Given the description of an element on the screen output the (x, y) to click on. 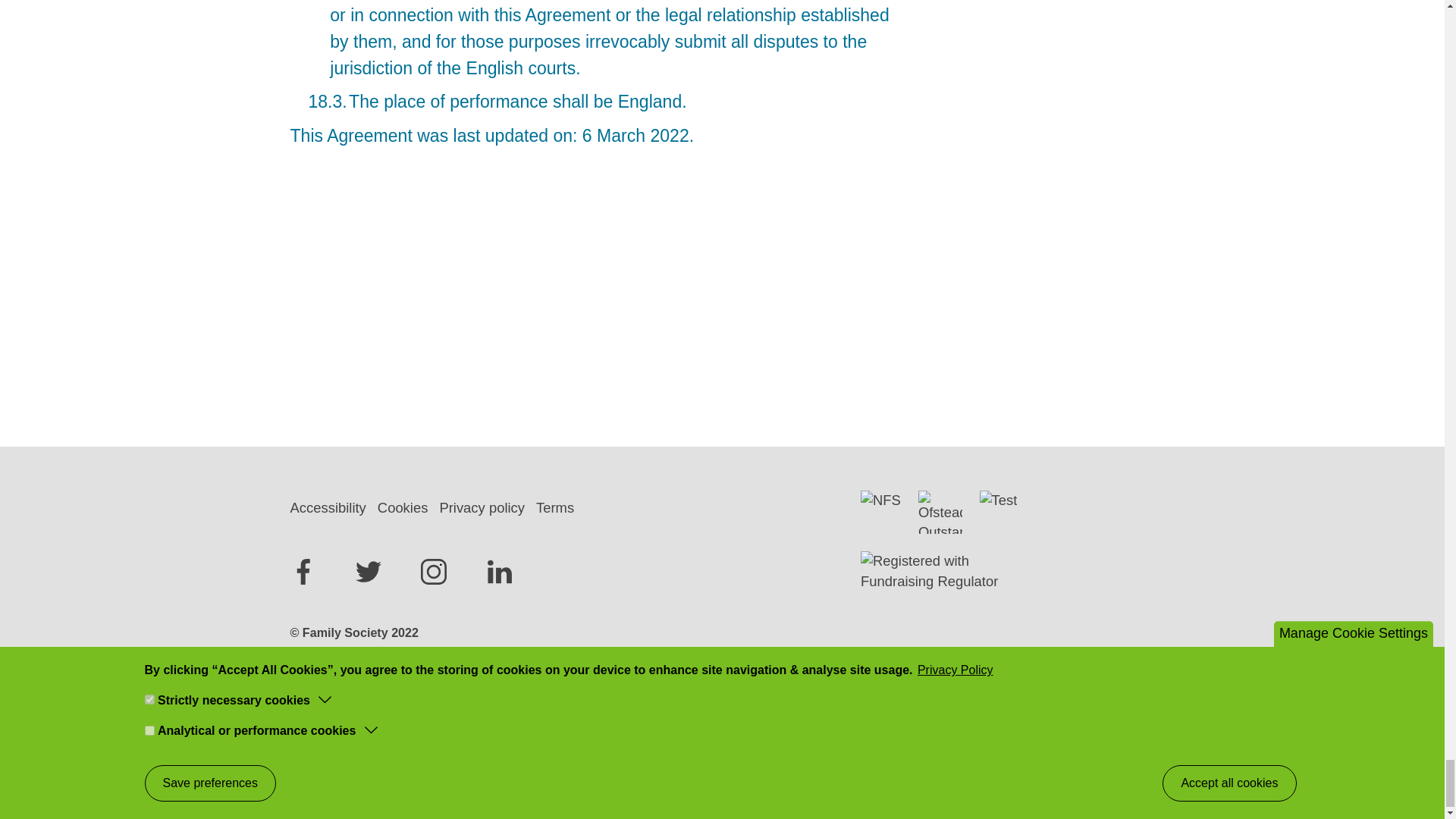
Website Terms (620, 744)
Cookies (408, 507)
Facebook (302, 571)
Terms and Conditions (620, 744)
Linked in (499, 571)
Twitter (368, 571)
Privacy policy (487, 507)
Terms (560, 507)
Accessibility (333, 507)
Instagram (433, 571)
